Given the description of an element on the screen output the (x, y) to click on. 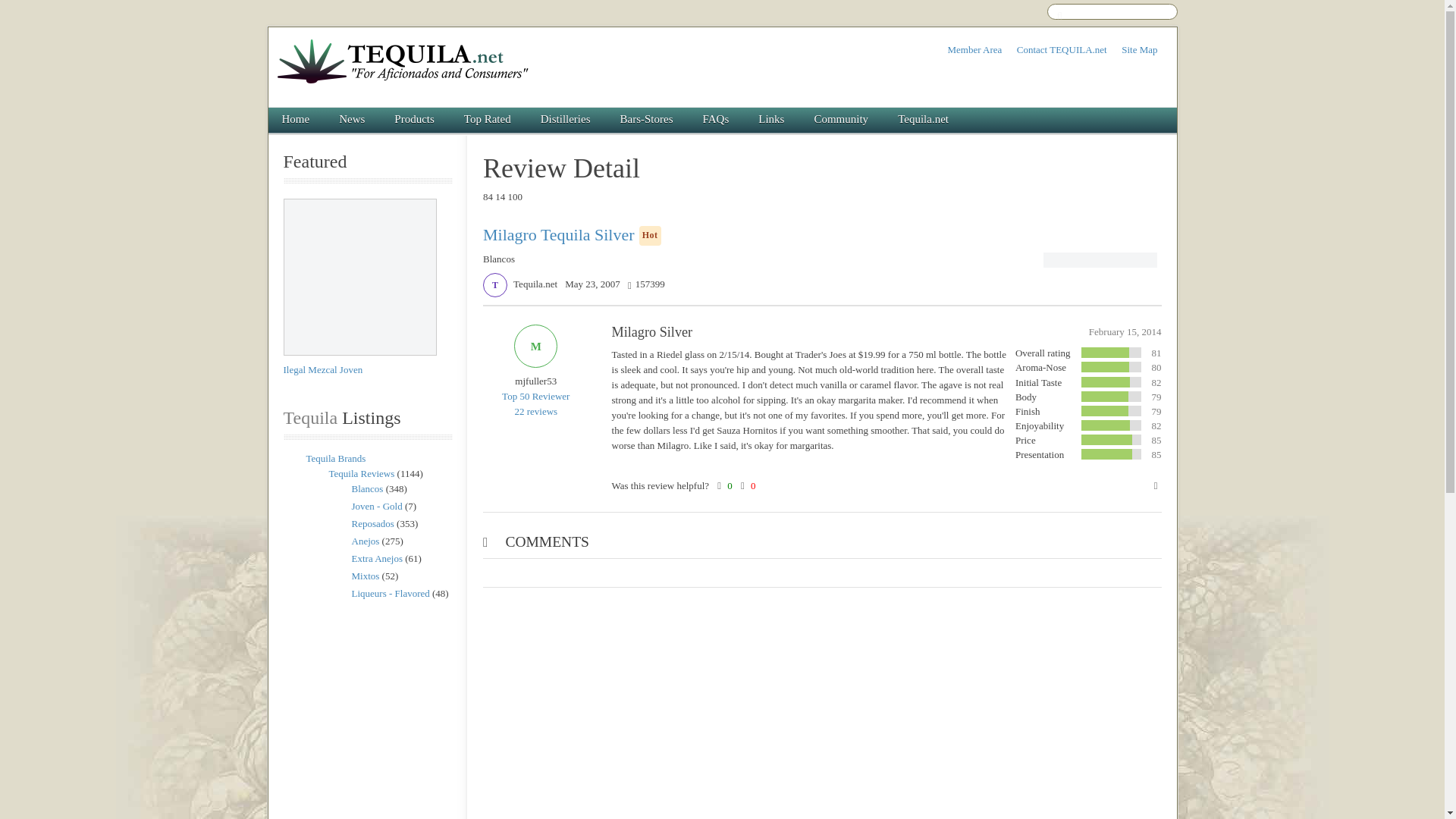
Advertisement (367, 710)
Home (295, 120)
Site Map (1139, 49)
News (352, 120)
Products (414, 120)
Contact TEQUILA.net (1061, 49)
Views (646, 283)
Member Area (974, 49)
